Given the description of an element on the screen output the (x, y) to click on. 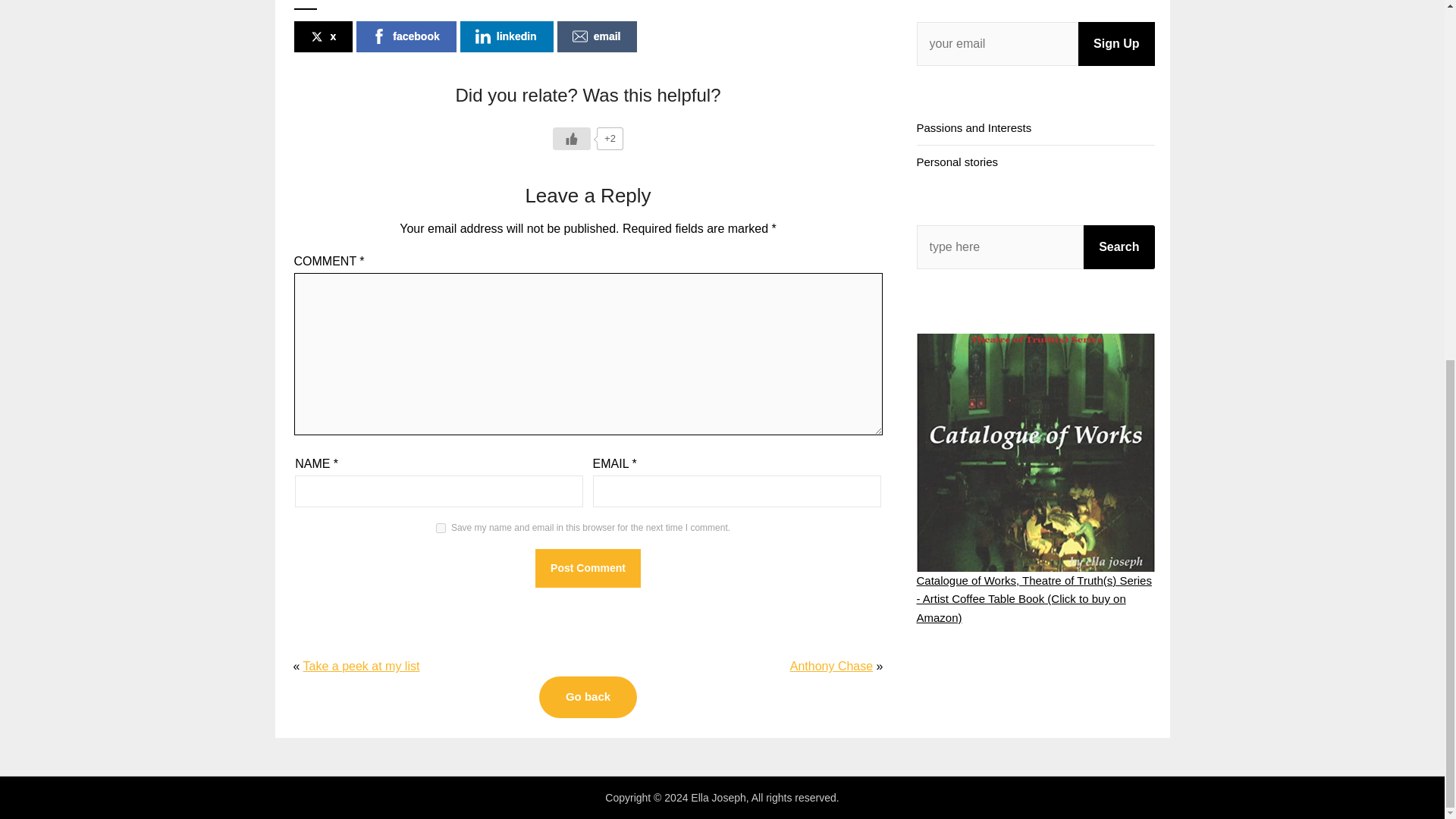
Personal stories (956, 161)
Sign Up (1116, 44)
Take a peek at my list (361, 666)
Go back (587, 696)
Passions and Interests (972, 127)
facebook (405, 36)
Post Comment (587, 568)
Post Comment (587, 568)
x (323, 36)
email (597, 36)
